Given the description of an element on the screen output the (x, y) to click on. 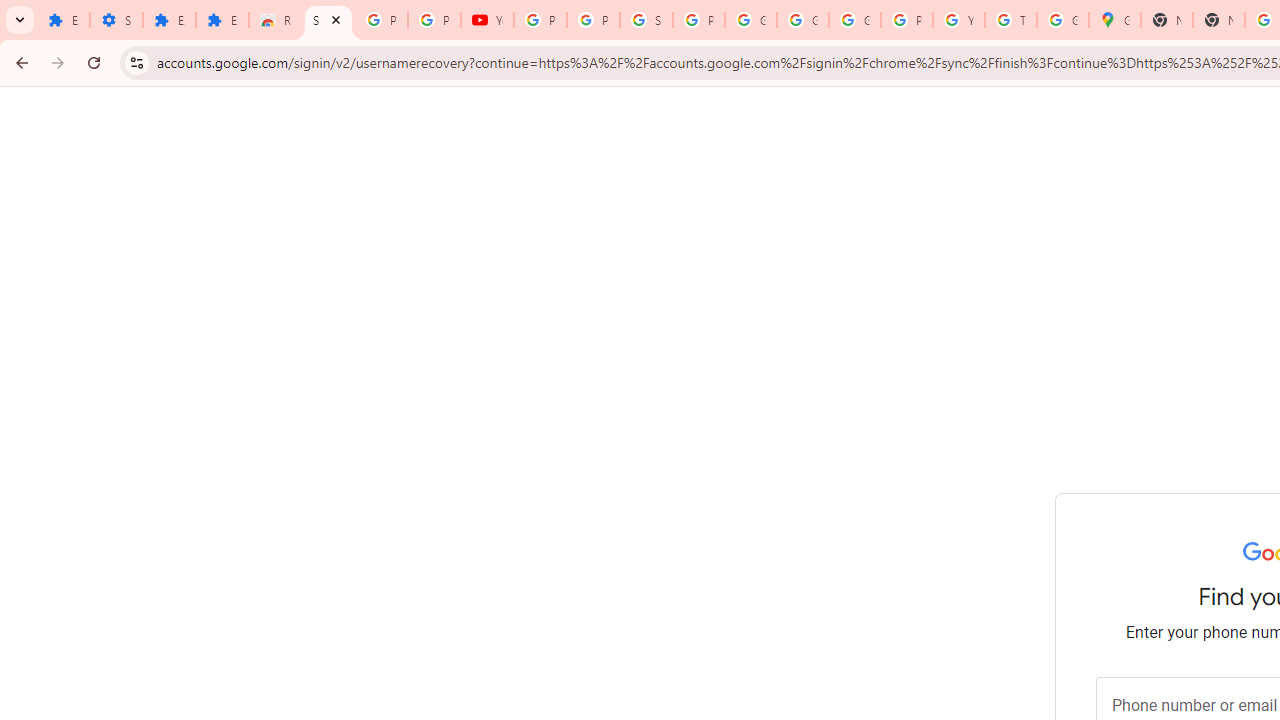
Google Account (803, 20)
Extensions (63, 20)
Extensions (222, 20)
YouTube (959, 20)
Google Account (750, 20)
Reviews: Helix Fruit Jump Arcade Game (275, 20)
Sign in - Google Accounts (646, 20)
